Given the description of an element on the screen output the (x, y) to click on. 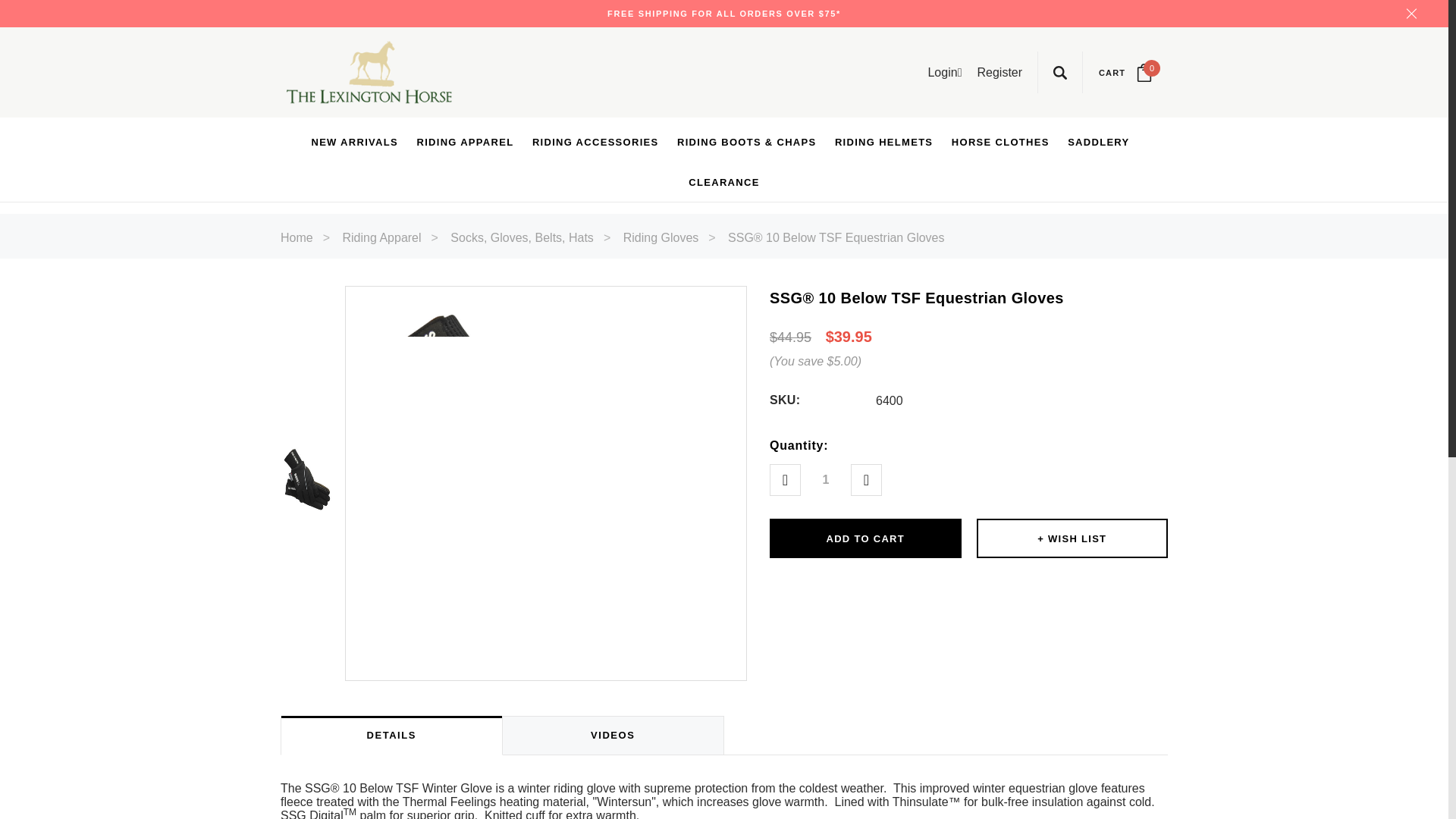
Register (999, 71)
The Lexington Horse (369, 72)
1 (825, 480)
Login (1125, 72)
